Given the description of an element on the screen output the (x, y) to click on. 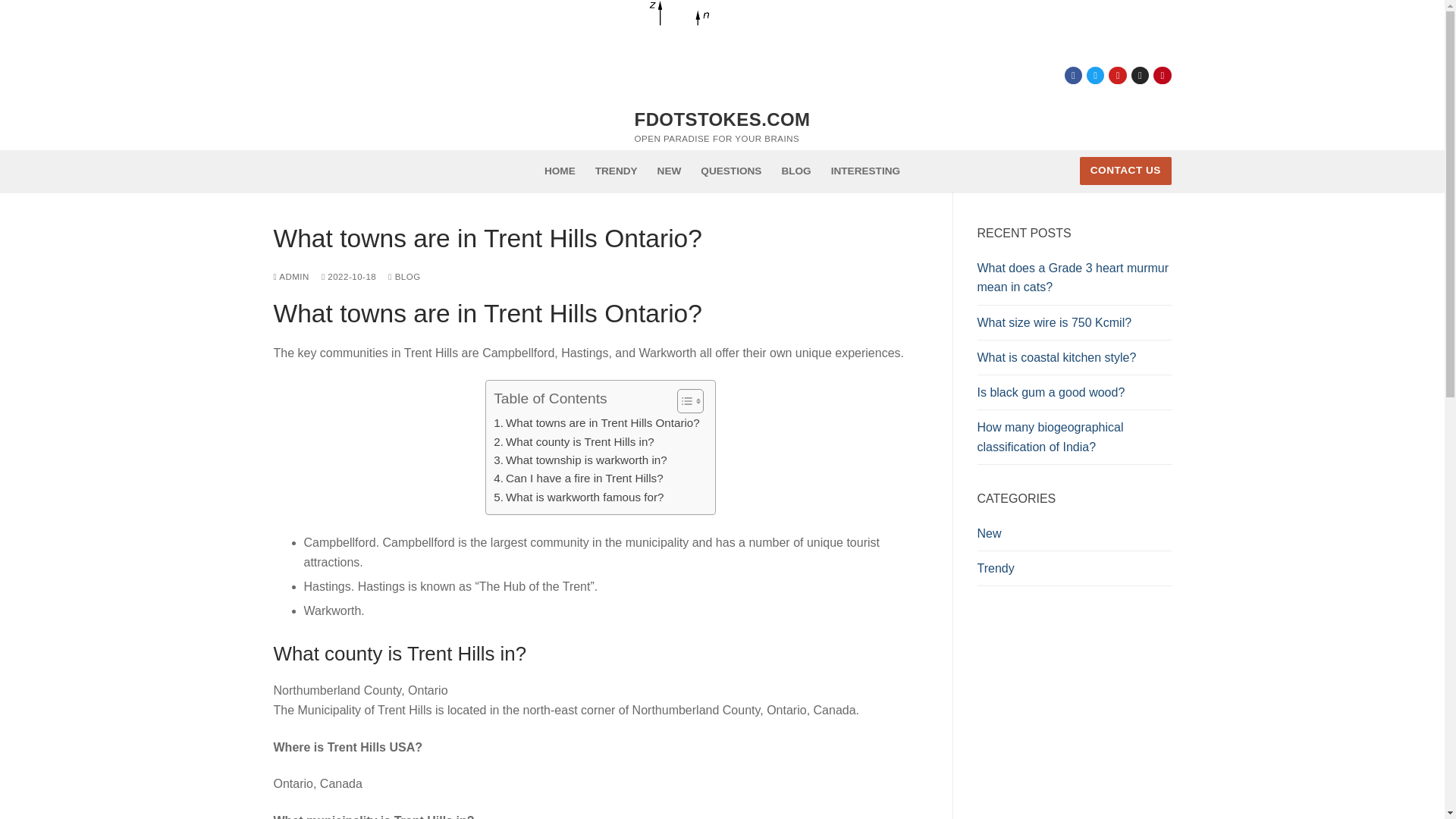
HOME (559, 171)
Youtube (1117, 75)
What county is Trent Hills in? (573, 442)
TRENDY (616, 171)
FDOTSTOKES.COM (722, 119)
BLOG (404, 276)
What township is warkworth in? (579, 460)
What towns are in Trent Hills Ontario? (595, 423)
Twitter (1095, 75)
QUESTIONS (730, 171)
Can I have a fire in Trent Hills? (577, 478)
Pinterest (1162, 75)
What county is Trent Hills in? (573, 442)
What is warkworth famous for? (578, 497)
Facebook (1073, 75)
